Given the description of an element on the screen output the (x, y) to click on. 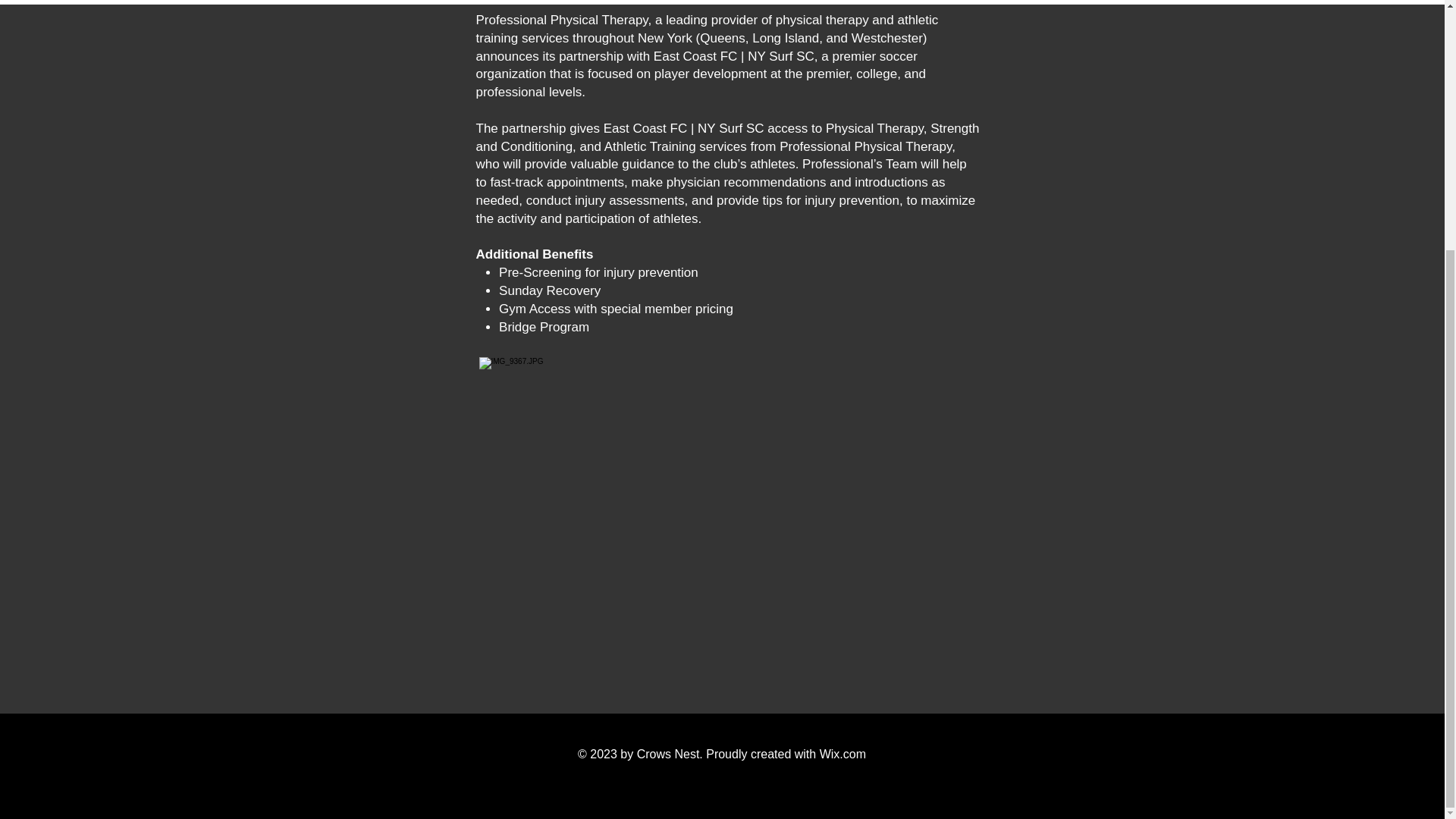
Wix.com (842, 753)
